Given the description of an element on the screen output the (x, y) to click on. 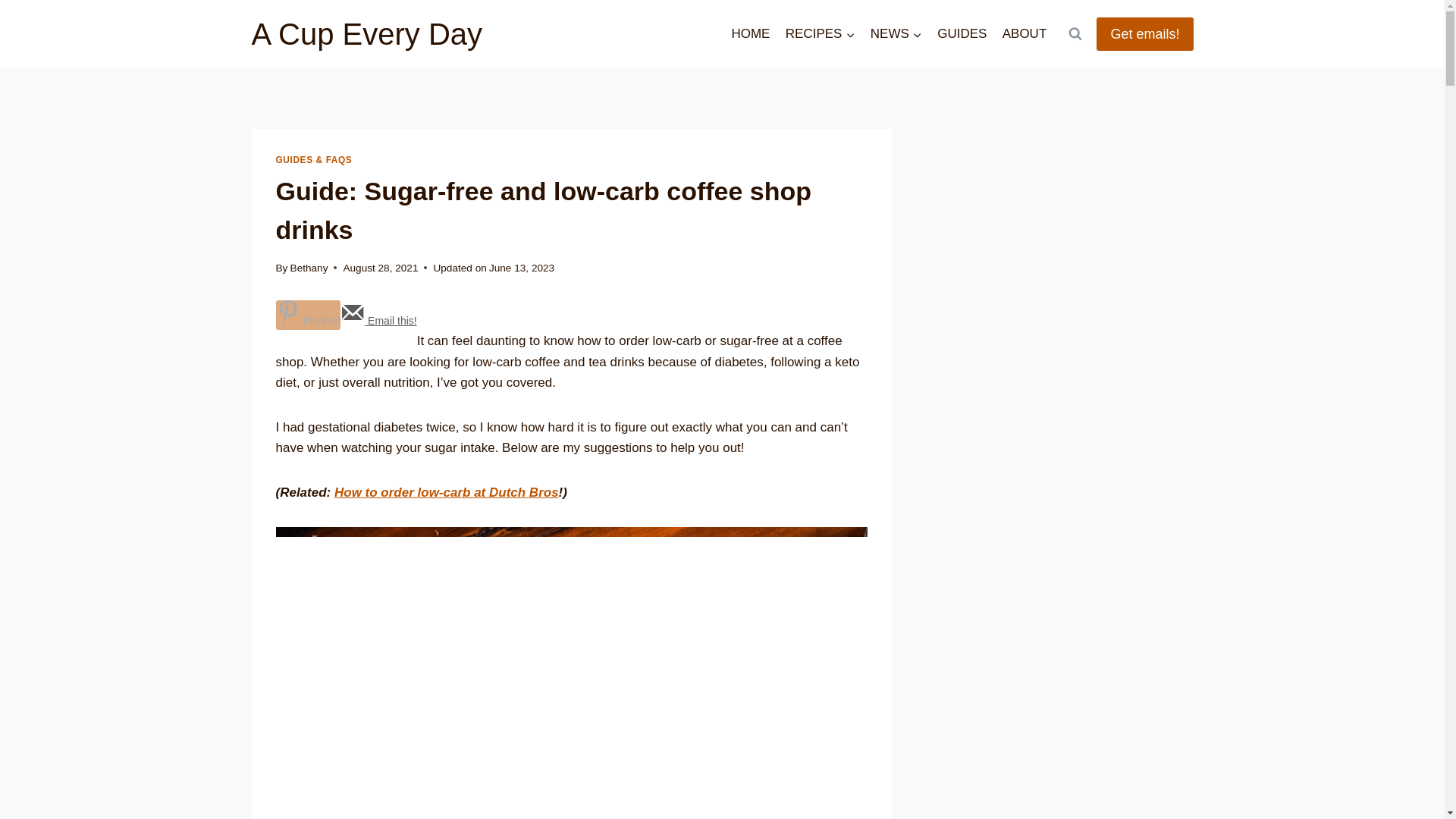
HOME (750, 33)
How to order low-carb at Dutch Bros (446, 492)
Save to Pinterest (308, 314)
A Cup Every Day (367, 33)
ABOUT (1024, 33)
NEWS (896, 33)
Send over email (378, 320)
GUIDES (962, 33)
RECIPES (820, 33)
Pin this! (308, 314)
